Given the description of an element on the screen output the (x, y) to click on. 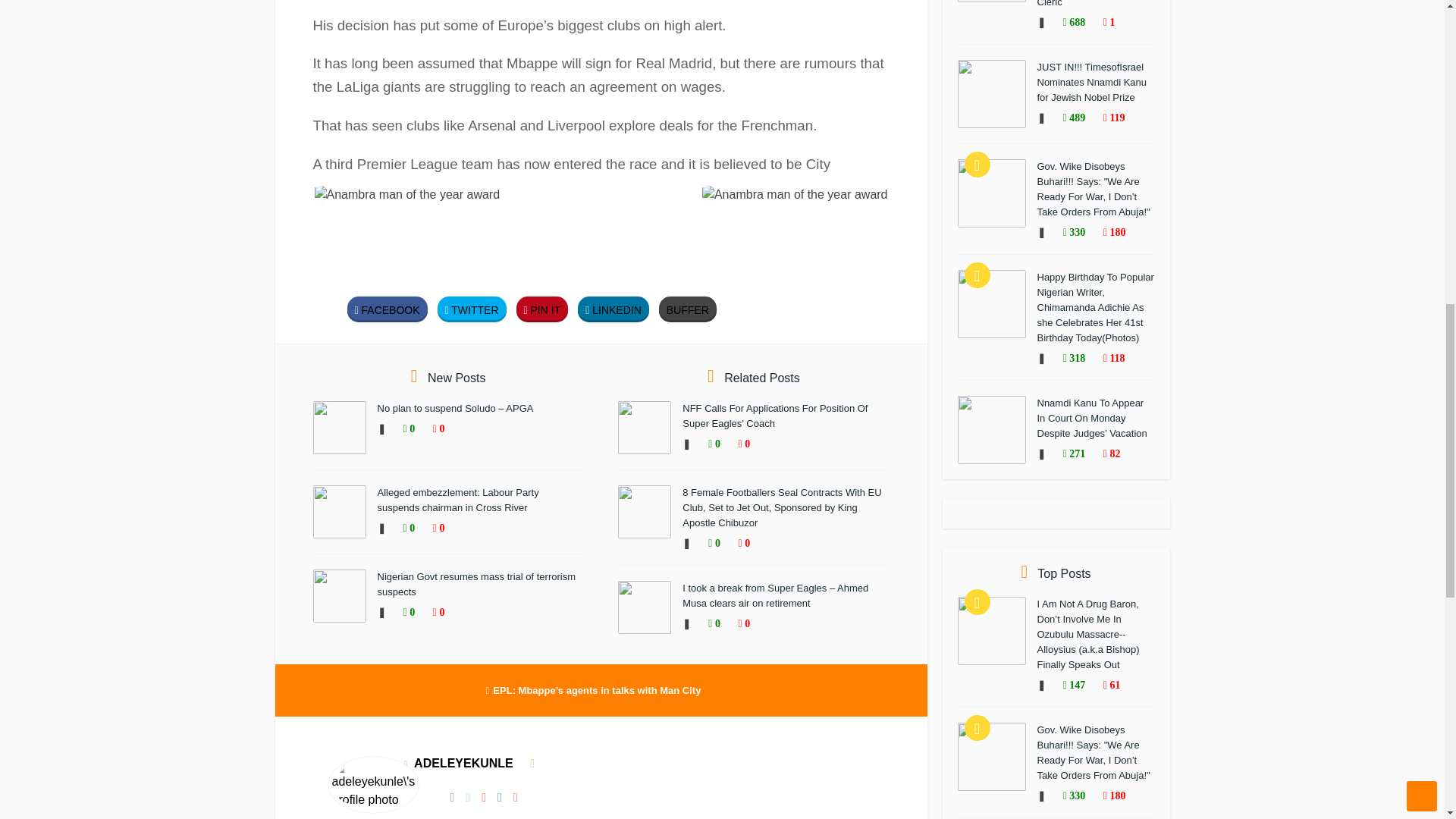
0 (401, 429)
0 (431, 528)
Share on Facebook (387, 309)
FACEBOOK (387, 309)
Posts by adeleyekunle (463, 762)
Pin This Post (542, 309)
0 (401, 528)
LINKEDIN (613, 309)
0 (431, 429)
Share on Buffer (687, 309)
Tweet This Post (472, 309)
BUFFER (687, 309)
PIN IT (542, 309)
Share on Linkedin (613, 309)
